Given the description of an element on the screen output the (x, y) to click on. 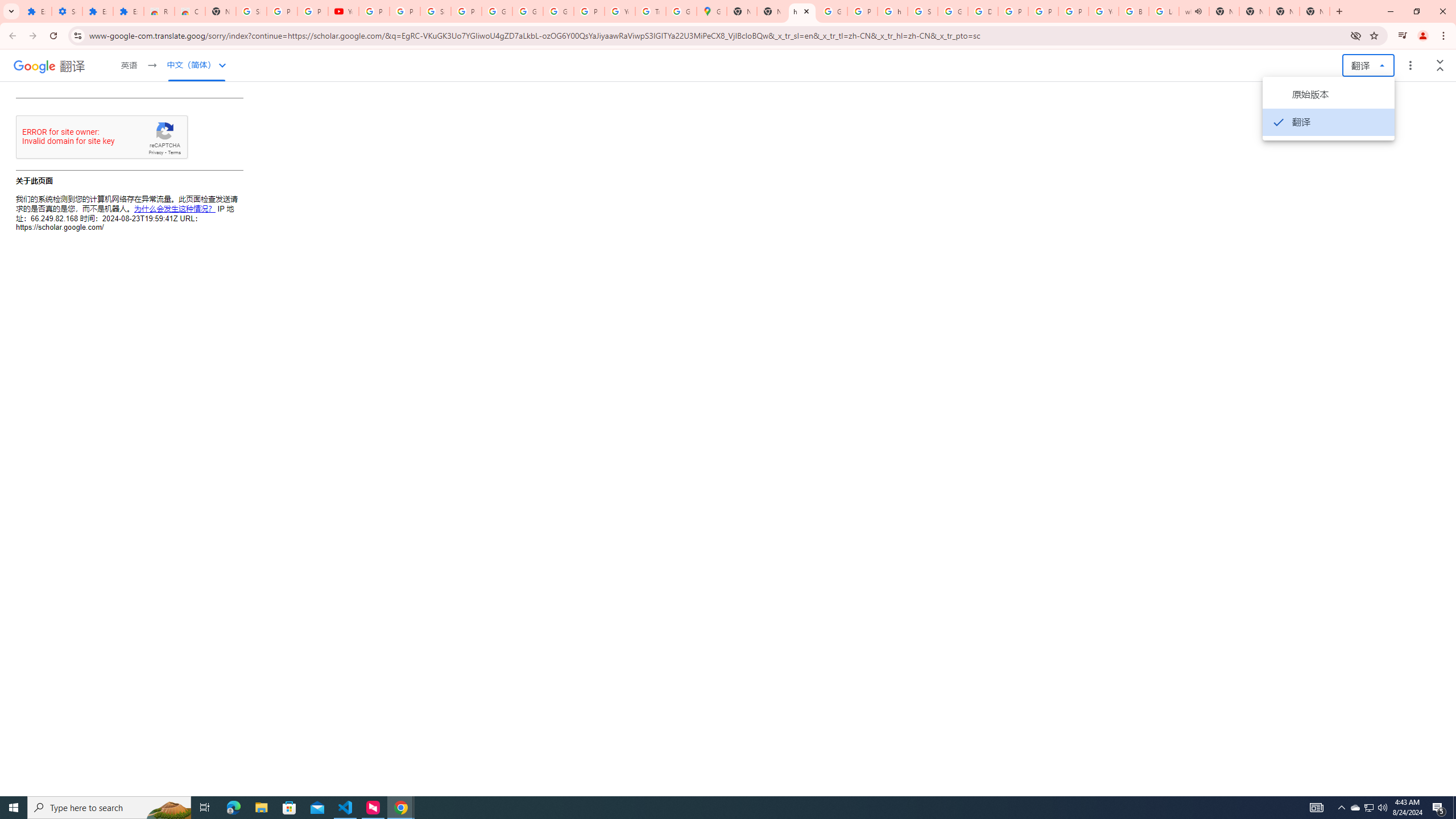
New Tab (1314, 11)
Mute tab (1197, 10)
https://scholar.google.com/ (892, 11)
Extensions (97, 11)
Google Account (527, 11)
Reviews: Helix Fruit Jump Arcade Game (158, 11)
YouTube (343, 11)
